Given the description of an element on the screen output the (x, y) to click on. 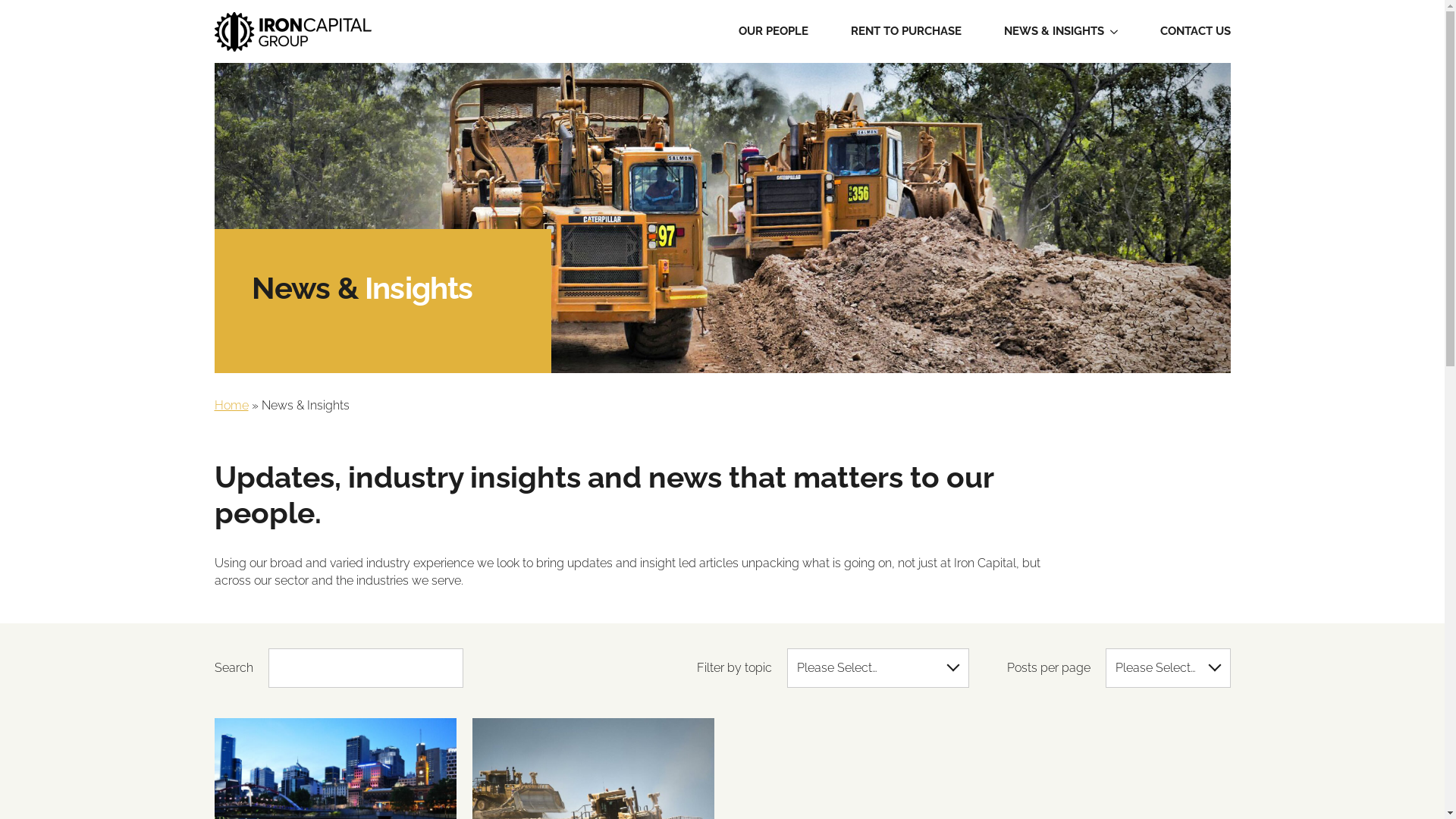
CONTACT US Element type: text (1195, 31)
OUR PEOPLE Element type: text (773, 31)
RENT TO PURCHASE Element type: text (905, 31)
NEWS & INSIGHTS Element type: text (1054, 31)
Home Element type: text (230, 405)
